Given the description of an element on the screen output the (x, y) to click on. 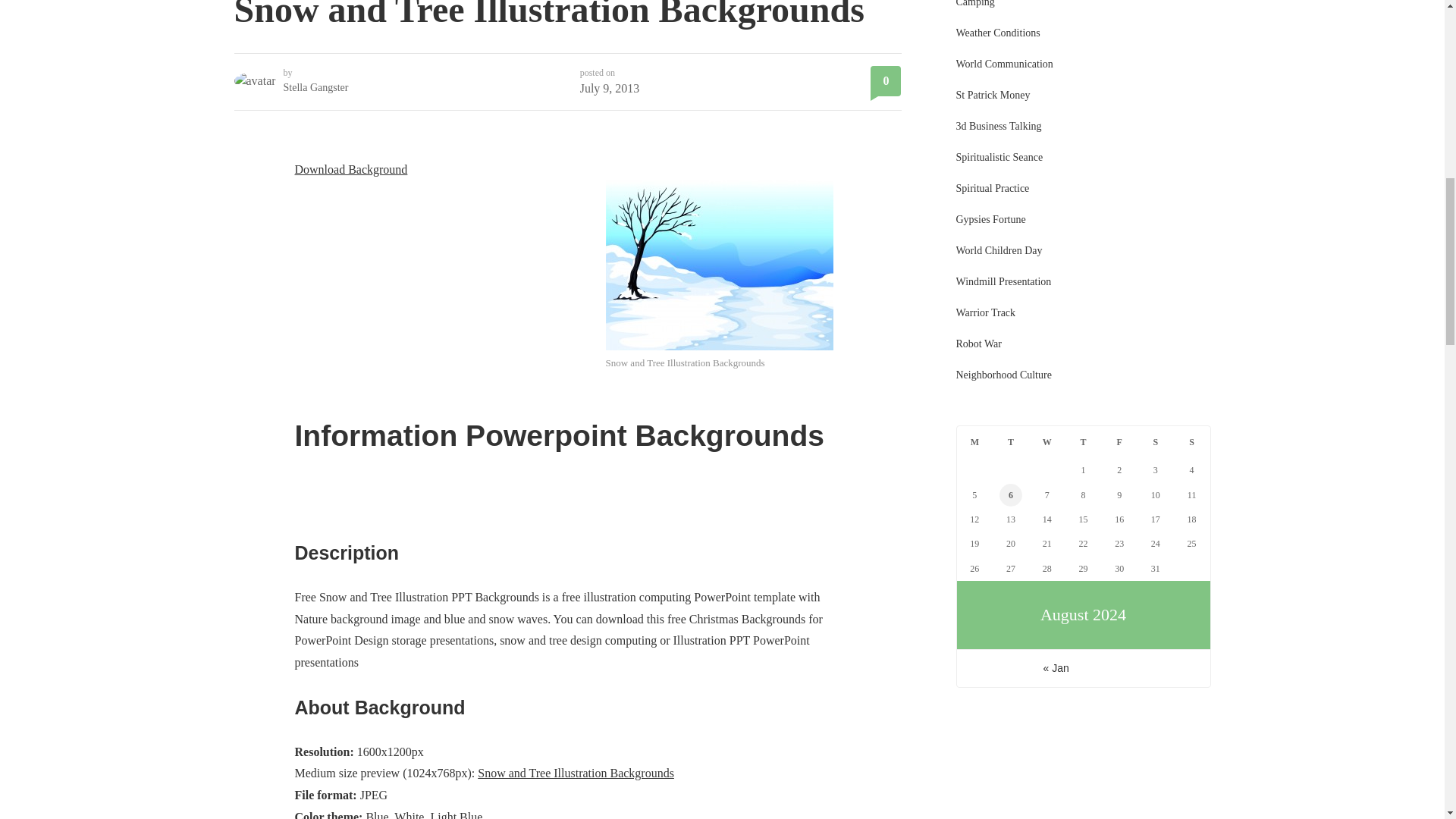
Posts by Stella Gangster (316, 87)
July 9, 2013 (609, 88)
Comment (885, 81)
